Given the description of an element on the screen output the (x, y) to click on. 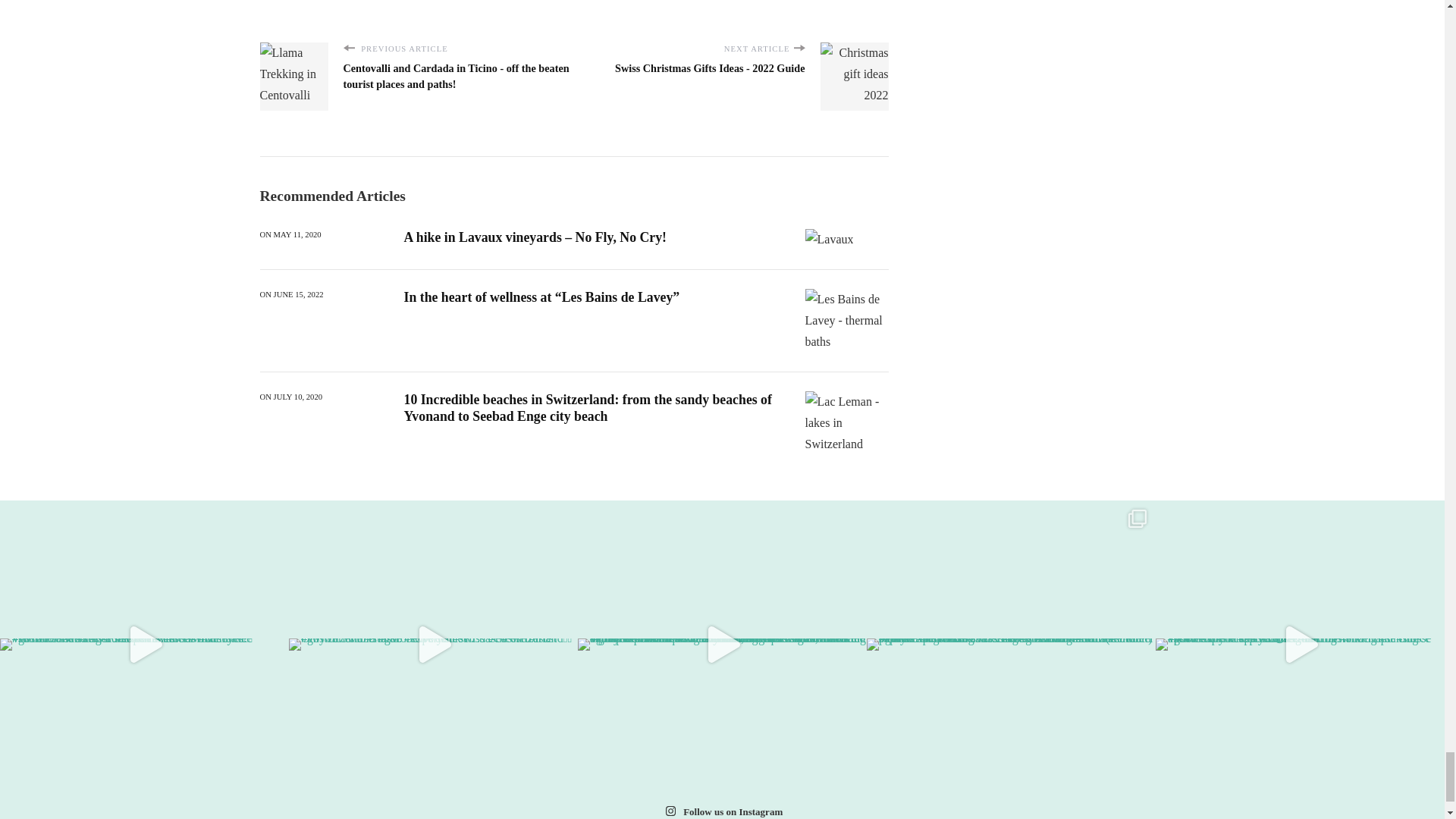
JULY 10, 2020 (298, 397)
JUNE 15, 2022 (298, 295)
MAY 11, 2020 (297, 234)
